Given the description of an element on the screen output the (x, y) to click on. 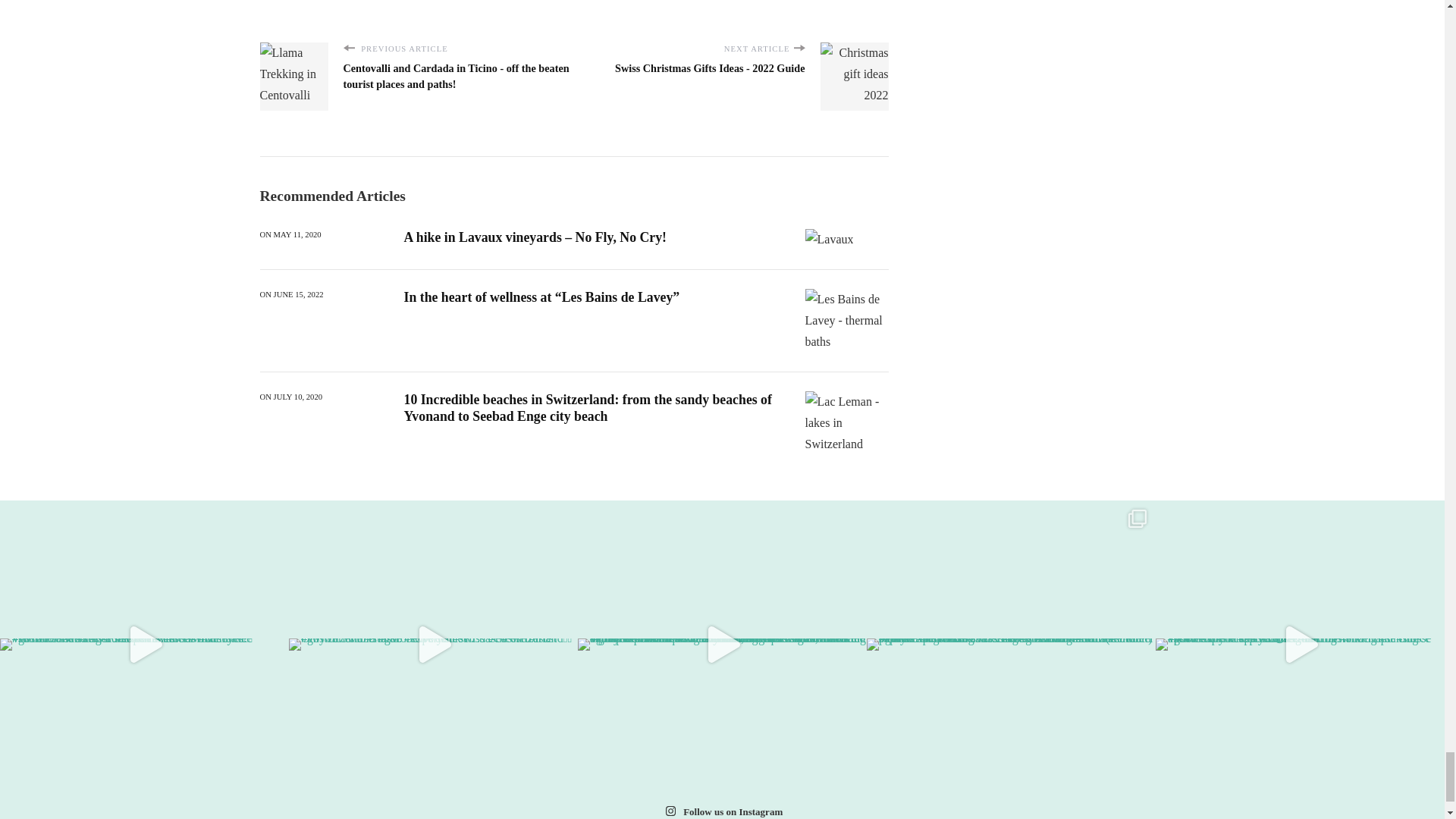
JULY 10, 2020 (298, 397)
JUNE 15, 2022 (298, 295)
MAY 11, 2020 (297, 234)
